Given the description of an element on the screen output the (x, y) to click on. 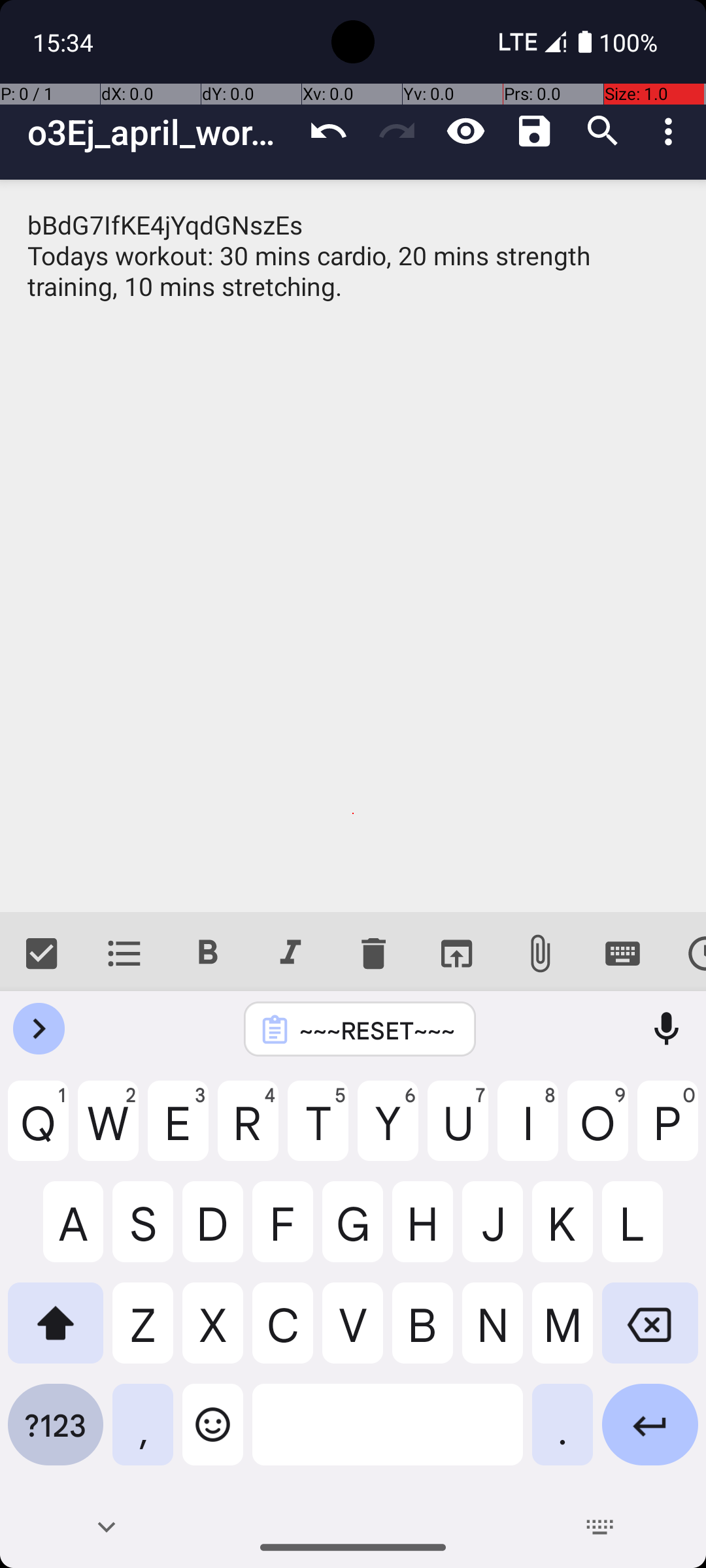
o3Ej_april_workout_routine Element type: android.widget.TextView (160, 131)
bBdG7IfKE4jYqdGNszEs
Todays workout: 30 mins cardio, 20 mins strength training, 10 mins stretching.
 Element type: android.widget.EditText (353, 545)
